Given the description of an element on the screen output the (x, y) to click on. 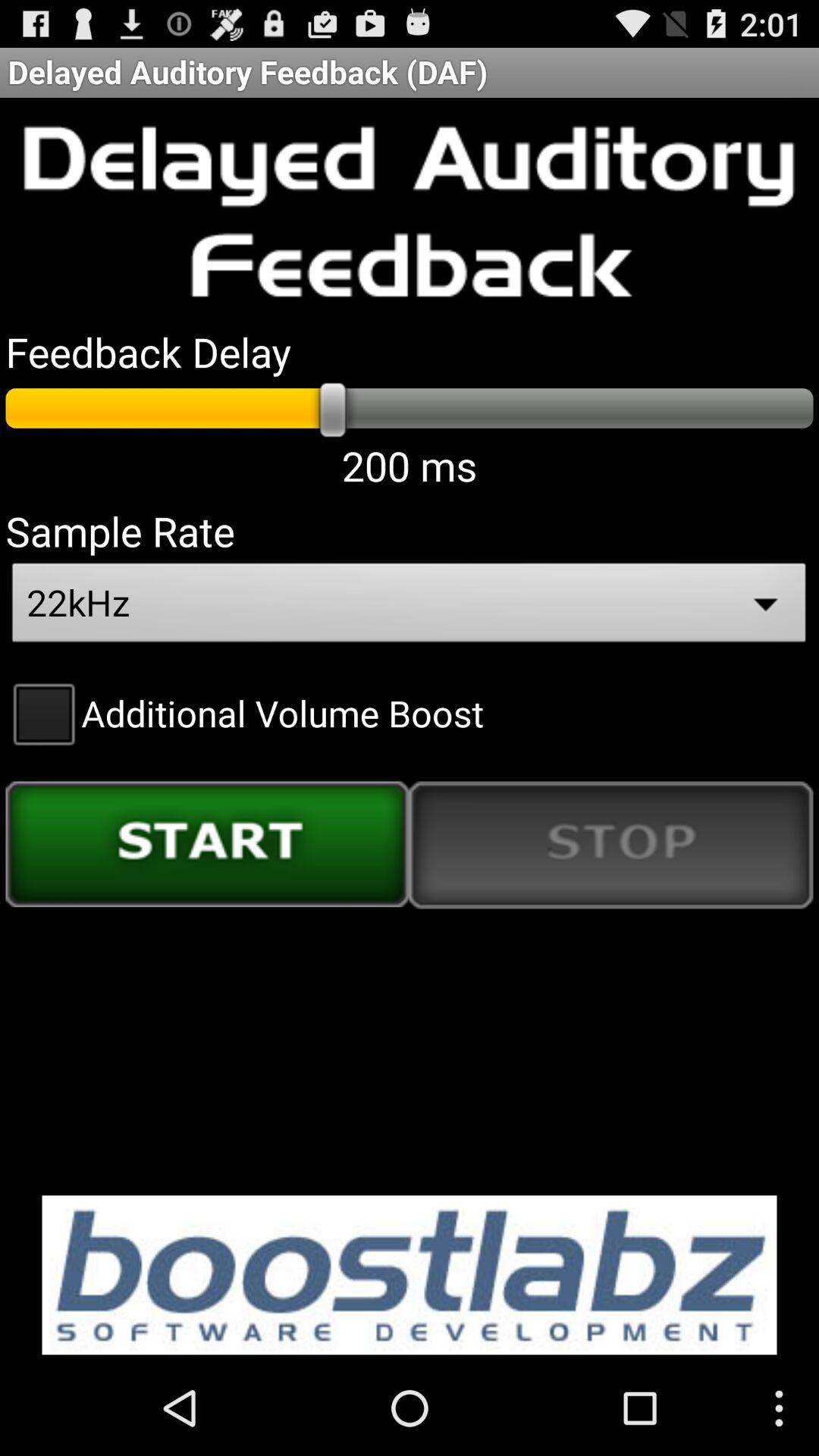
click item below the additional volume boost icon (207, 844)
